Given the description of an element on the screen output the (x, y) to click on. 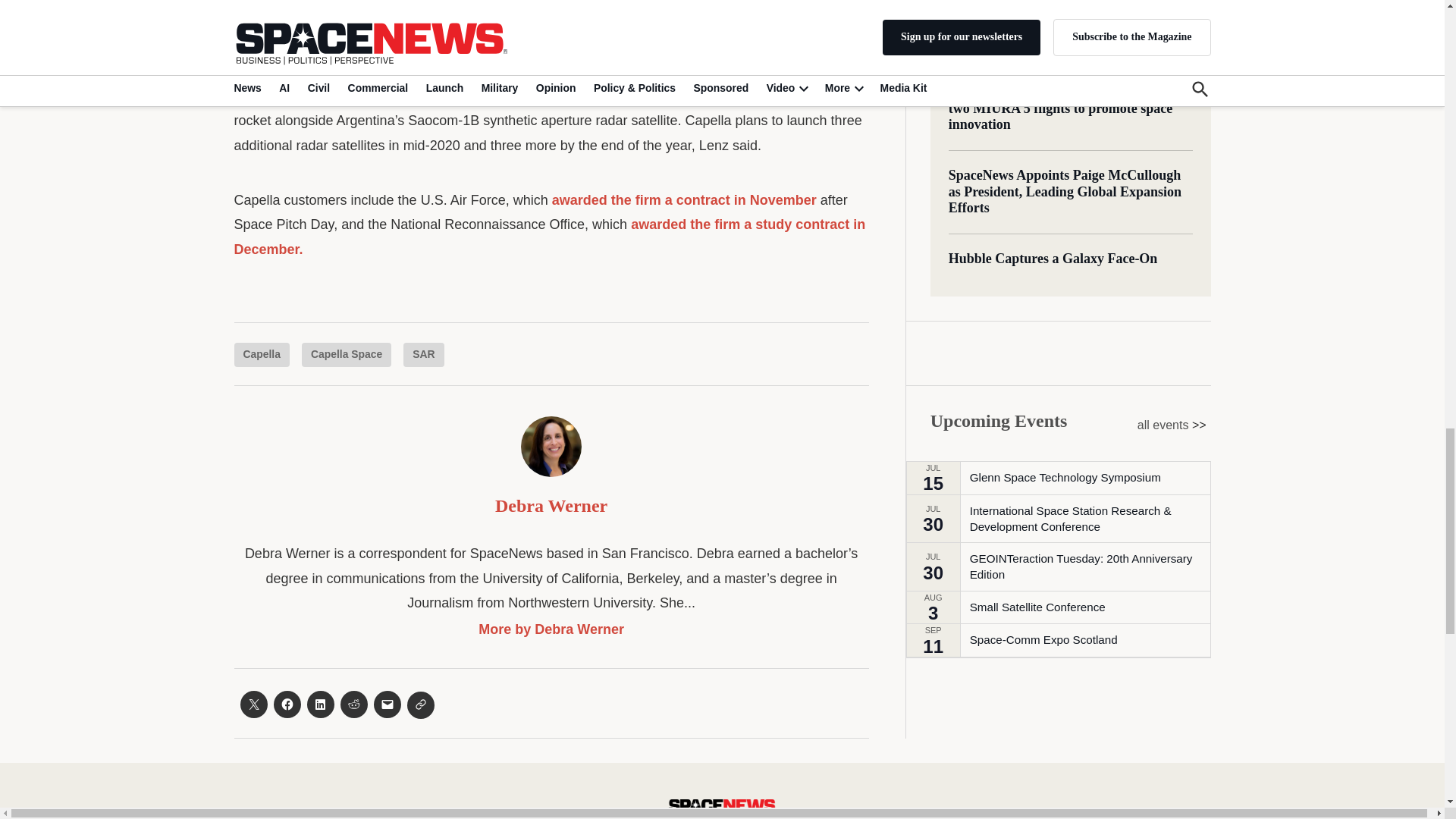
Click to share on X (253, 704)
Click to share on Reddit (352, 704)
Click to share on Clipboard (419, 705)
Click to share on Facebook (286, 704)
Click to share on LinkedIn (319, 704)
Click to email a link to a friend (386, 704)
